Given the description of an element on the screen output the (x, y) to click on. 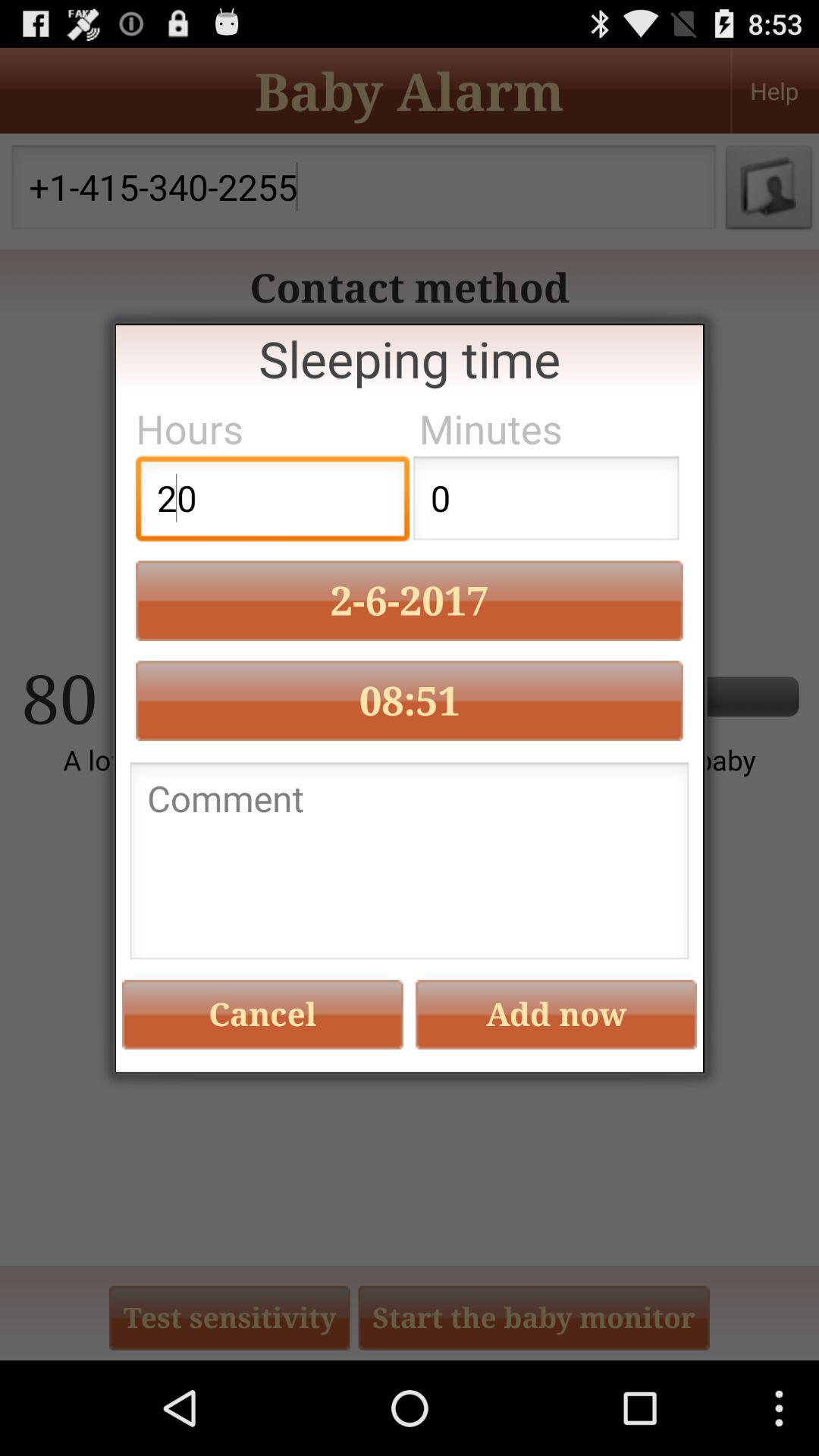
comment section (409, 864)
